Given the description of an element on the screen output the (x, y) to click on. 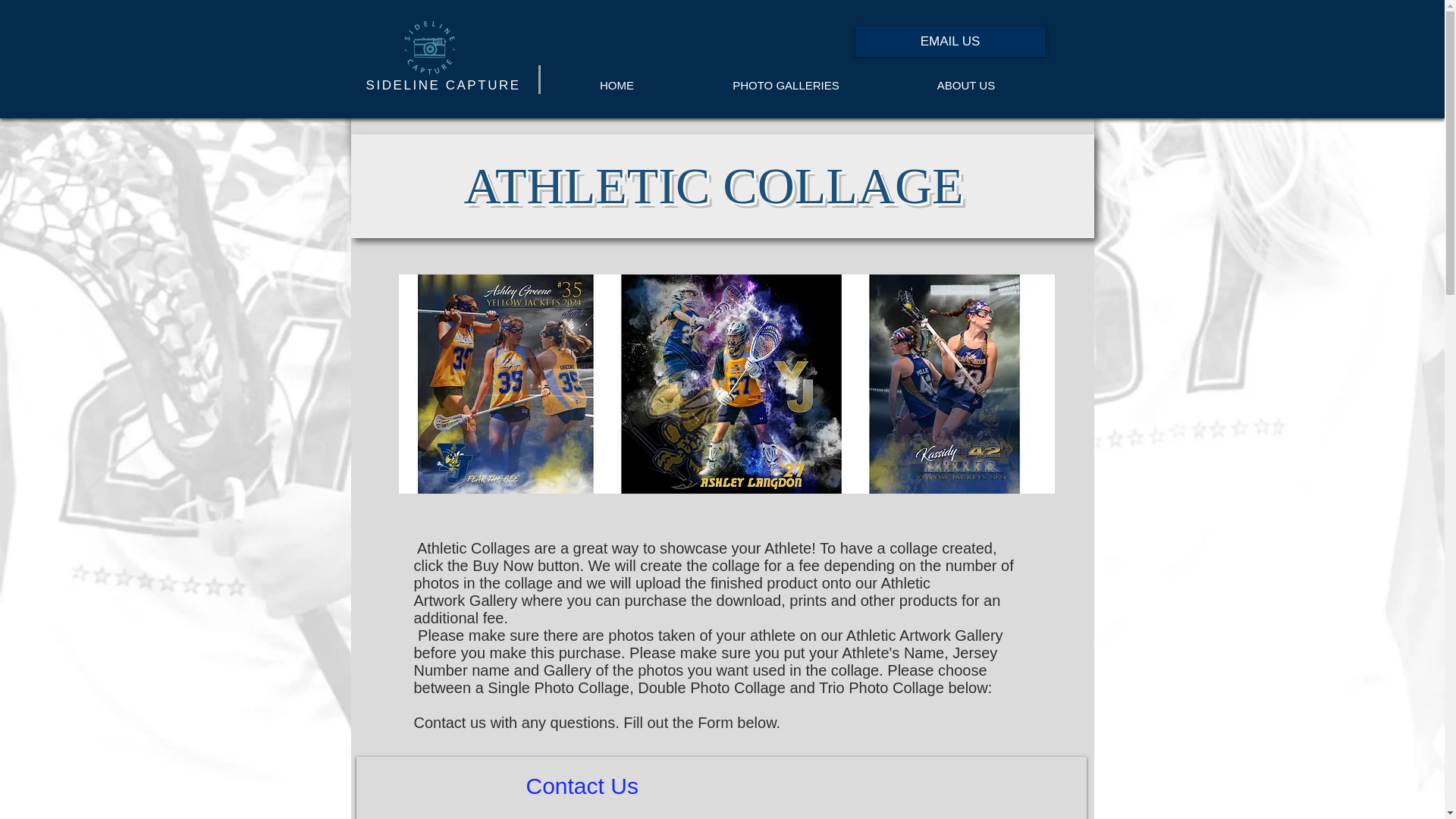
PHOTO GALLERIES (785, 85)
HOME (616, 85)
EMAIL US (950, 41)
ABOUT US (965, 85)
